Given the description of an element on the screen output the (x, y) to click on. 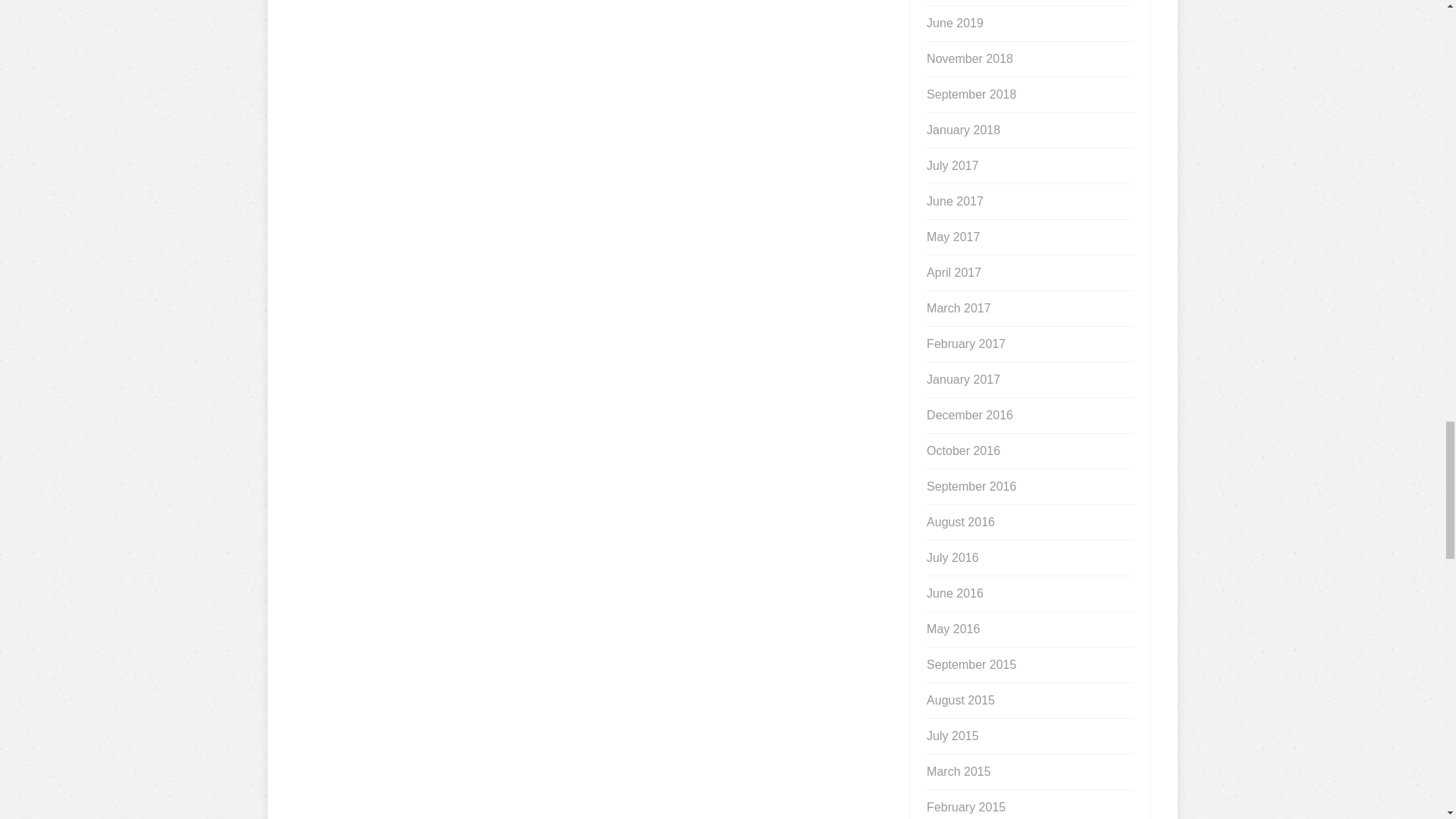
June 2019 (955, 22)
July 2019 (952, 2)
